Given the description of an element on the screen output the (x, y) to click on. 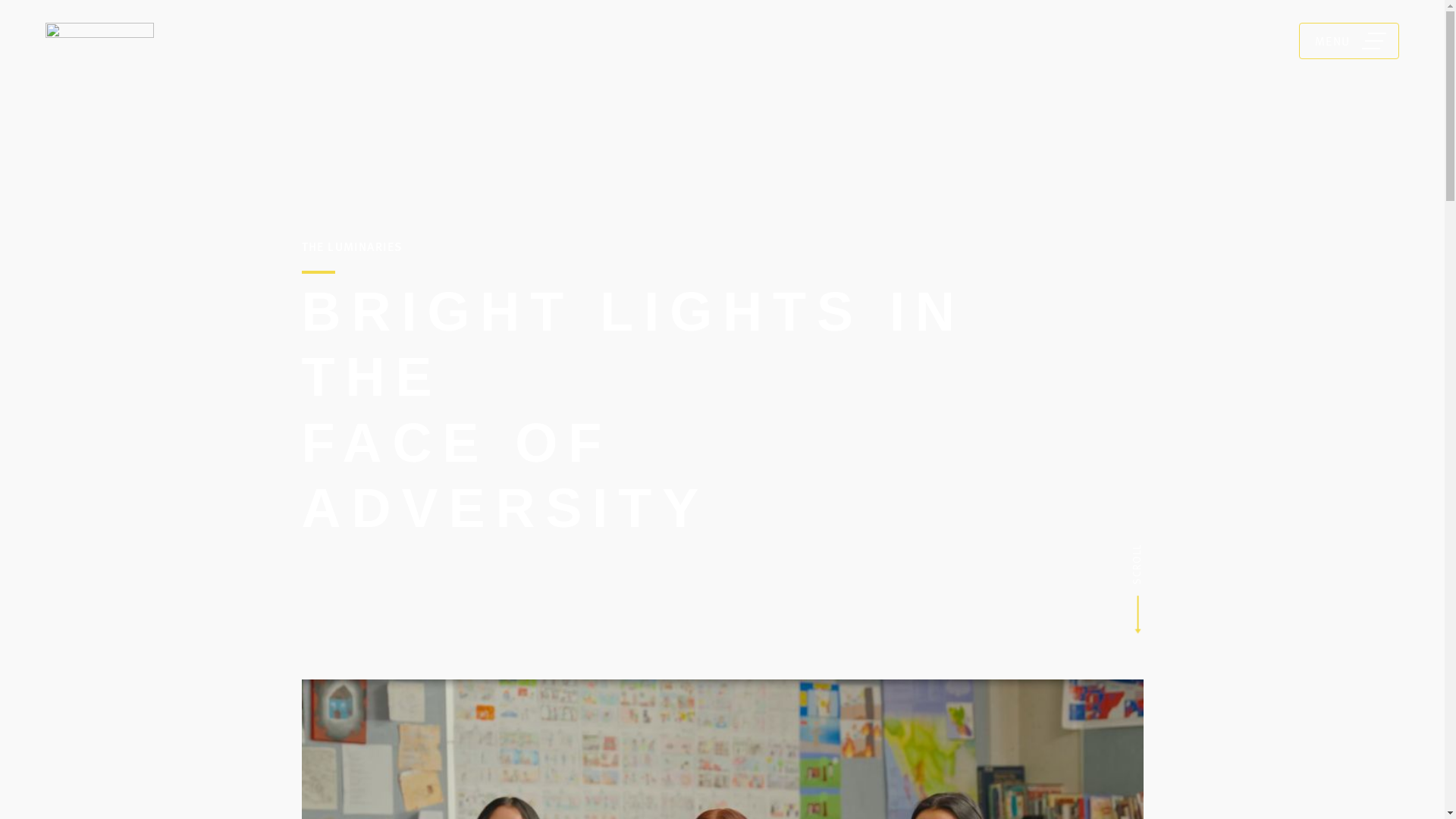
Skip to primary navigation Element type: text (30, 0)
MENU Element type: text (1349, 40)
